Given the description of an element on the screen output the (x, y) to click on. 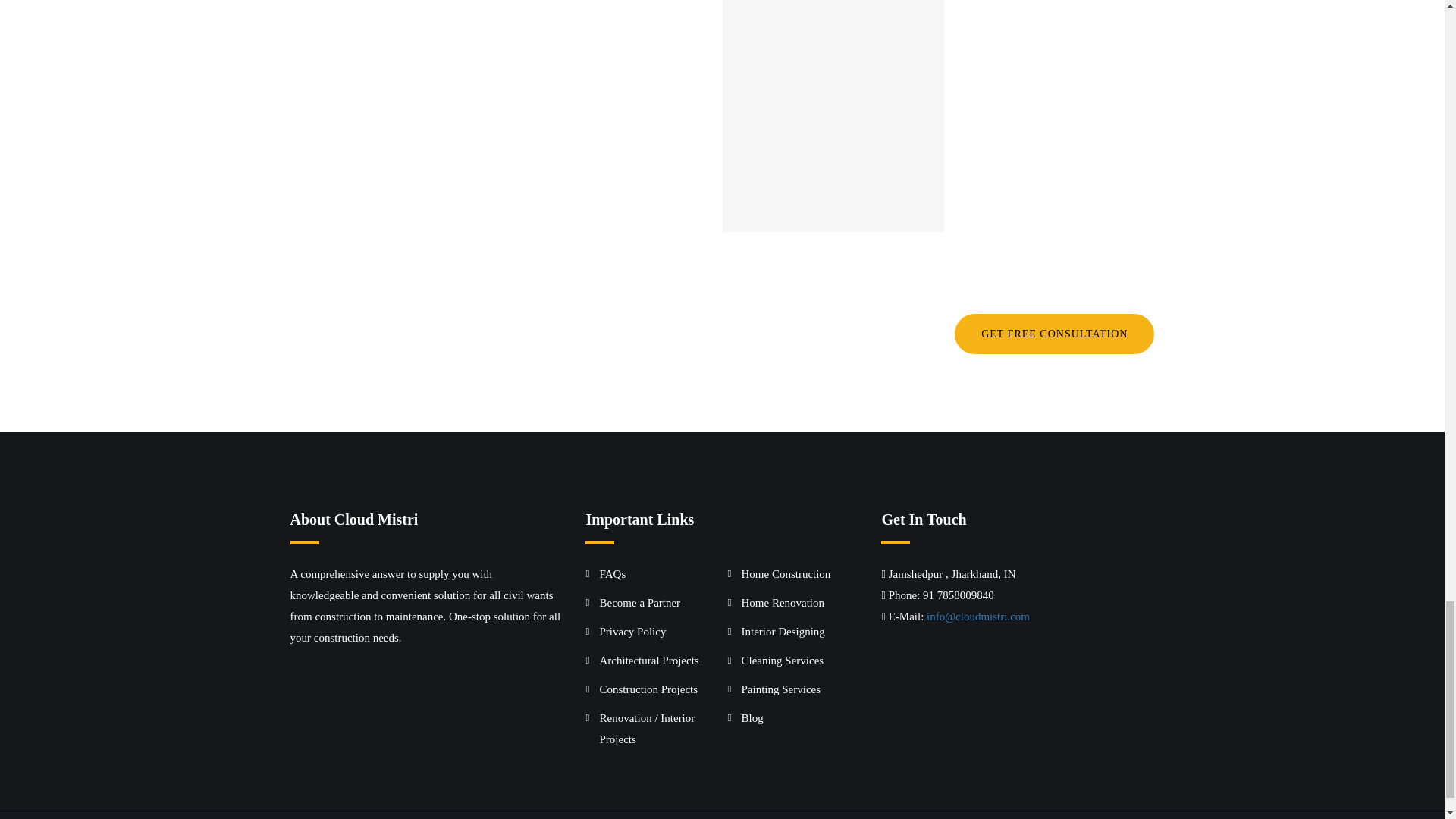
FAQs (612, 573)
Become a Partner (638, 603)
GET FREE CONSULTATION (1054, 333)
Home Construction (785, 573)
